Given the description of an element on the screen output the (x, y) to click on. 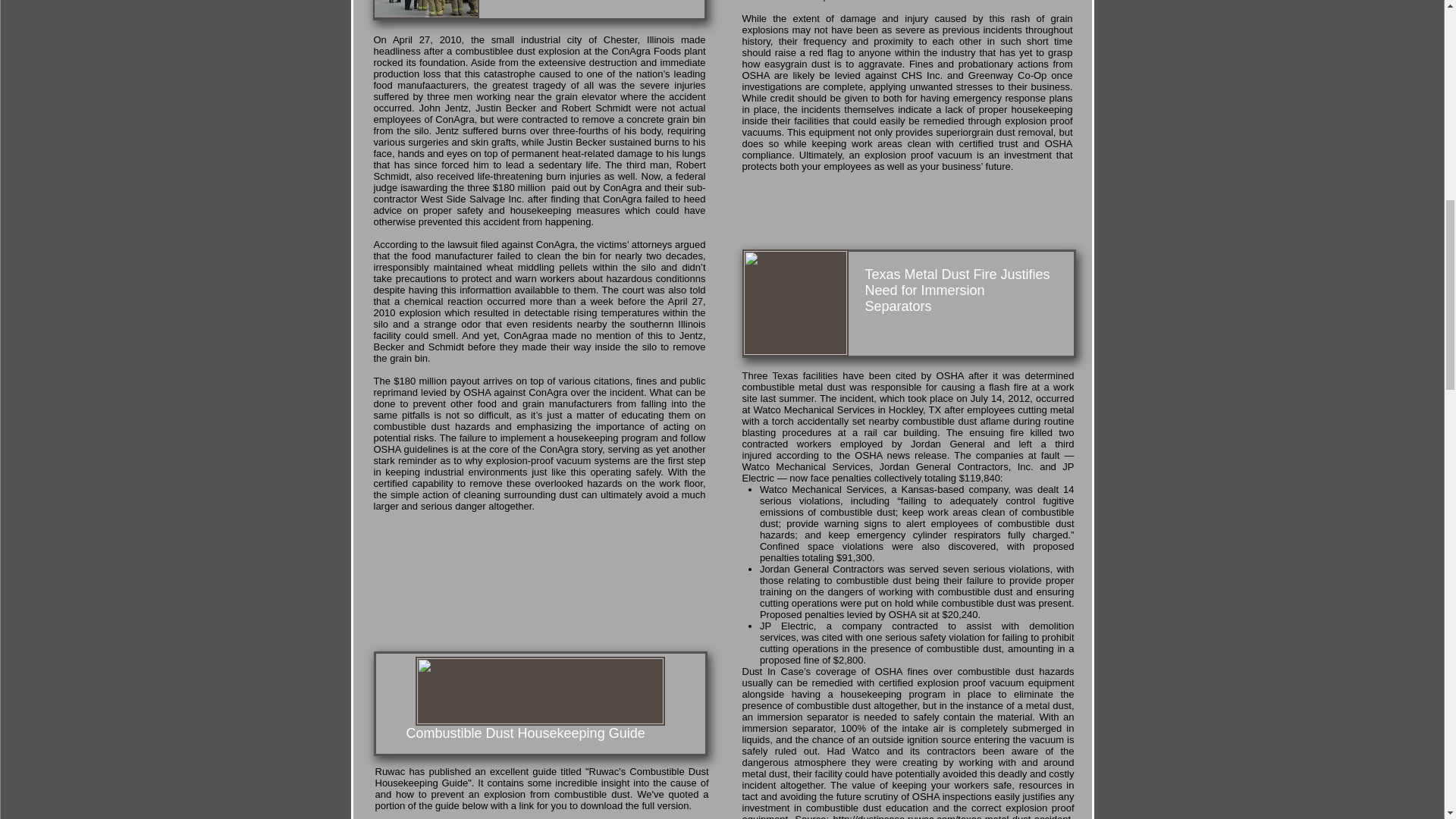
ConAgra explosion.jpg (425, 9)
Texas Metal.png (794, 302)
